Given the description of an element on the screen output the (x, y) to click on. 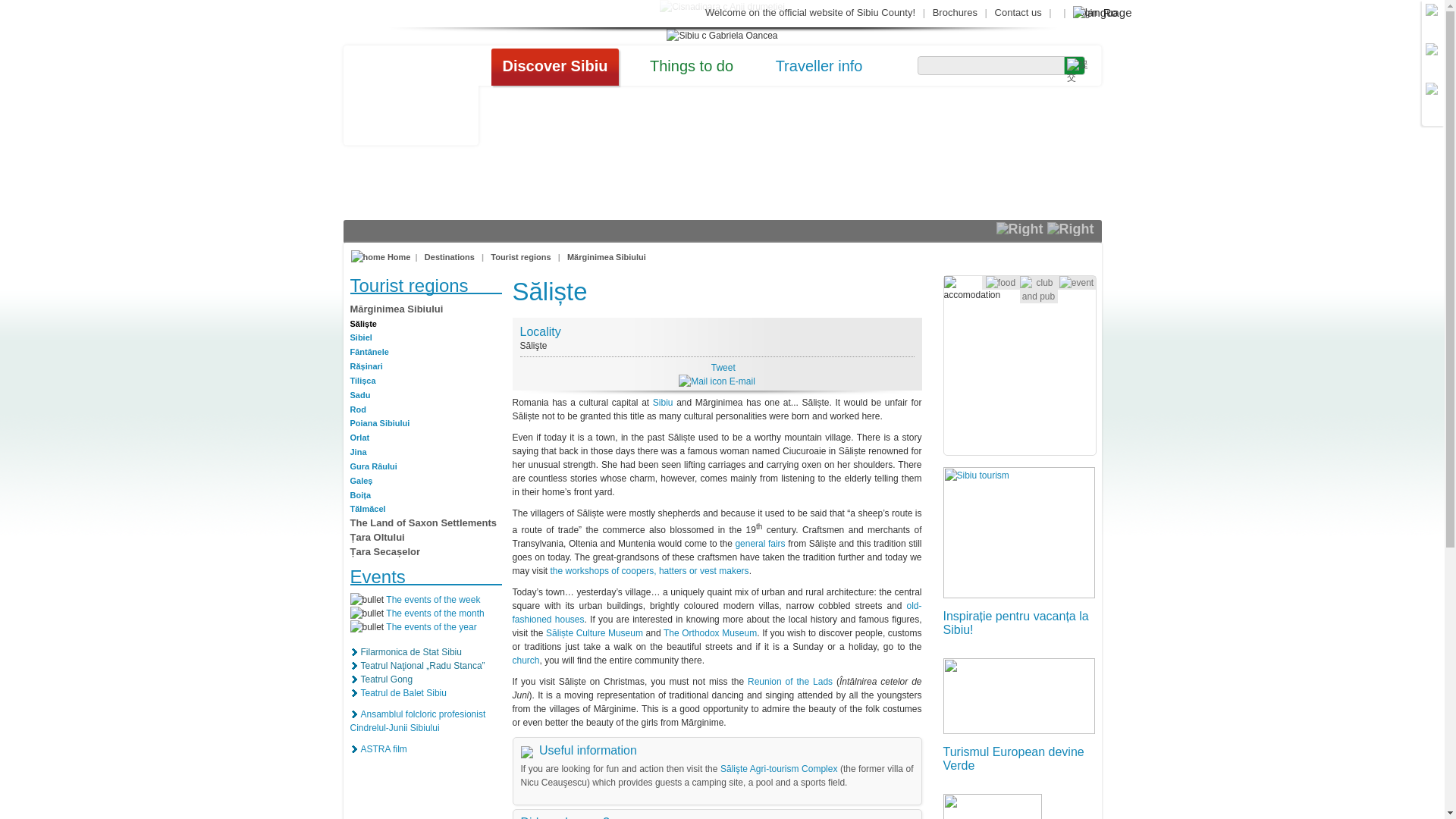
Discover Sibiu (556, 66)
Welcome on the official website of Sibiu County! (810, 12)
Login (1085, 12)
Things to do (691, 66)
Ro (1110, 15)
Contact us (1018, 12)
Brochures (954, 12)
Sibiu tourism (1018, 532)
